Given the description of an element on the screen output the (x, y) to click on. 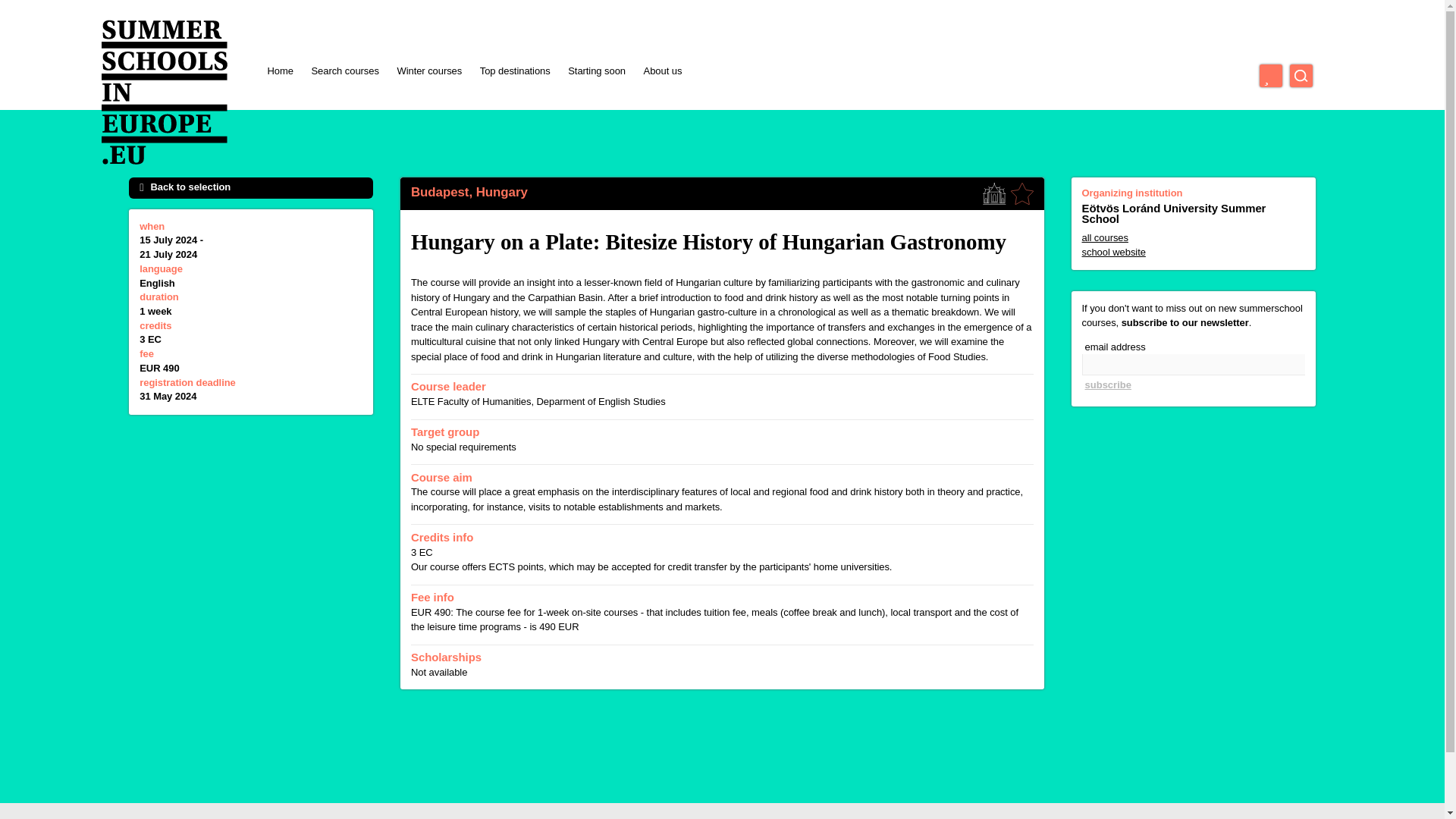
school website (1192, 252)
Winter courses (428, 71)
Starting soon (596, 71)
subscribe (1107, 385)
Top destinations (515, 71)
subscribe (1107, 385)
search (1301, 75)
Add as favourite (1021, 193)
About us (662, 71)
Home (279, 71)
